Given the description of an element on the screen output the (x, y) to click on. 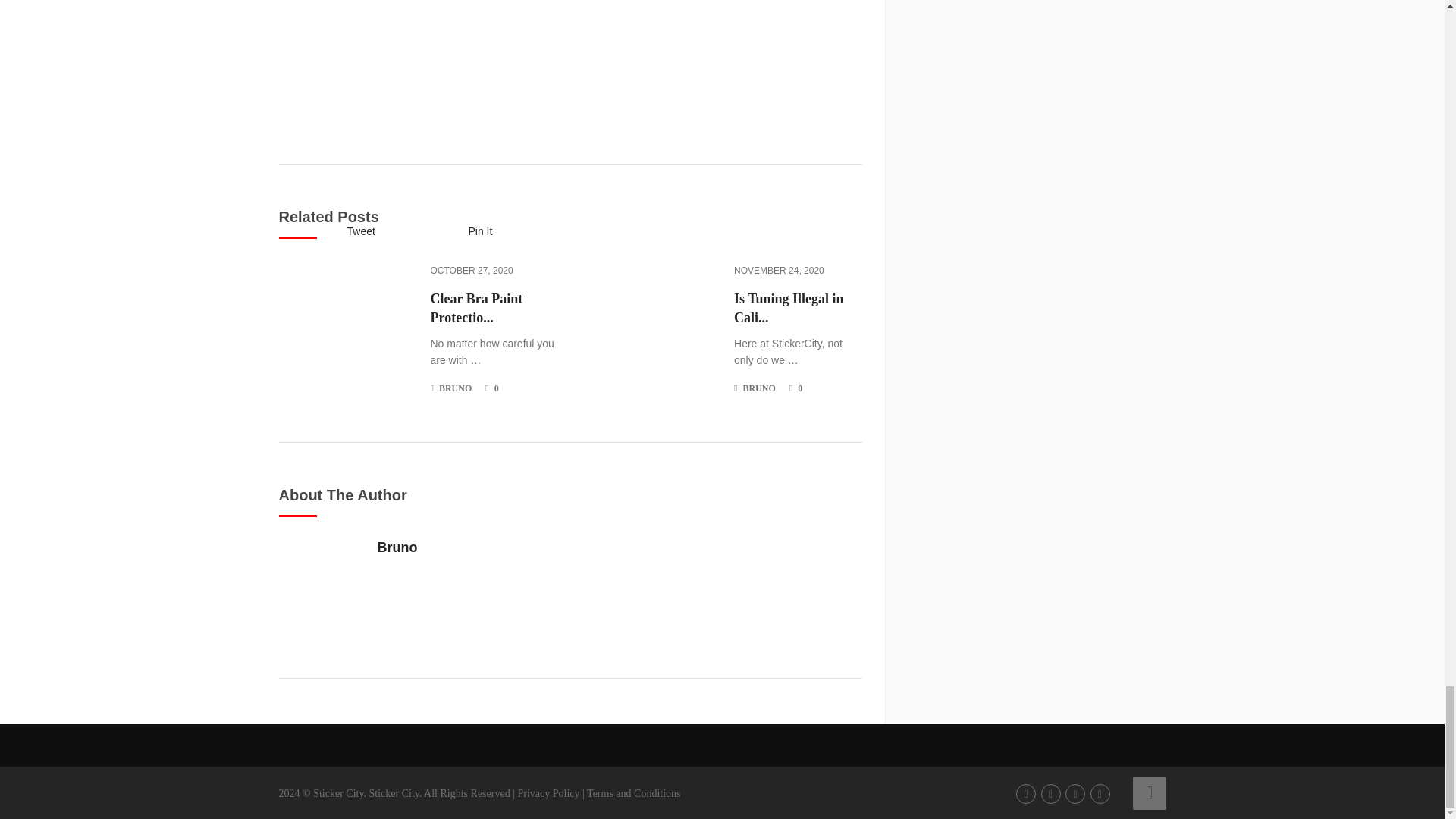
Posts by Bruno (455, 388)
Is Tuning Illegal in Cali... (797, 308)
Posts by Bruno (758, 388)
BRUNO (455, 388)
Clear Bra Installation in Los Angeles (337, 793)
Clear Bra Paint Protectio... (494, 308)
BRUNO (758, 388)
Clear Bra Paint Protection Cost in Los Angeles (494, 308)
Is Tuning Illegal in California? (797, 308)
